Given the description of an element on the screen output the (x, y) to click on. 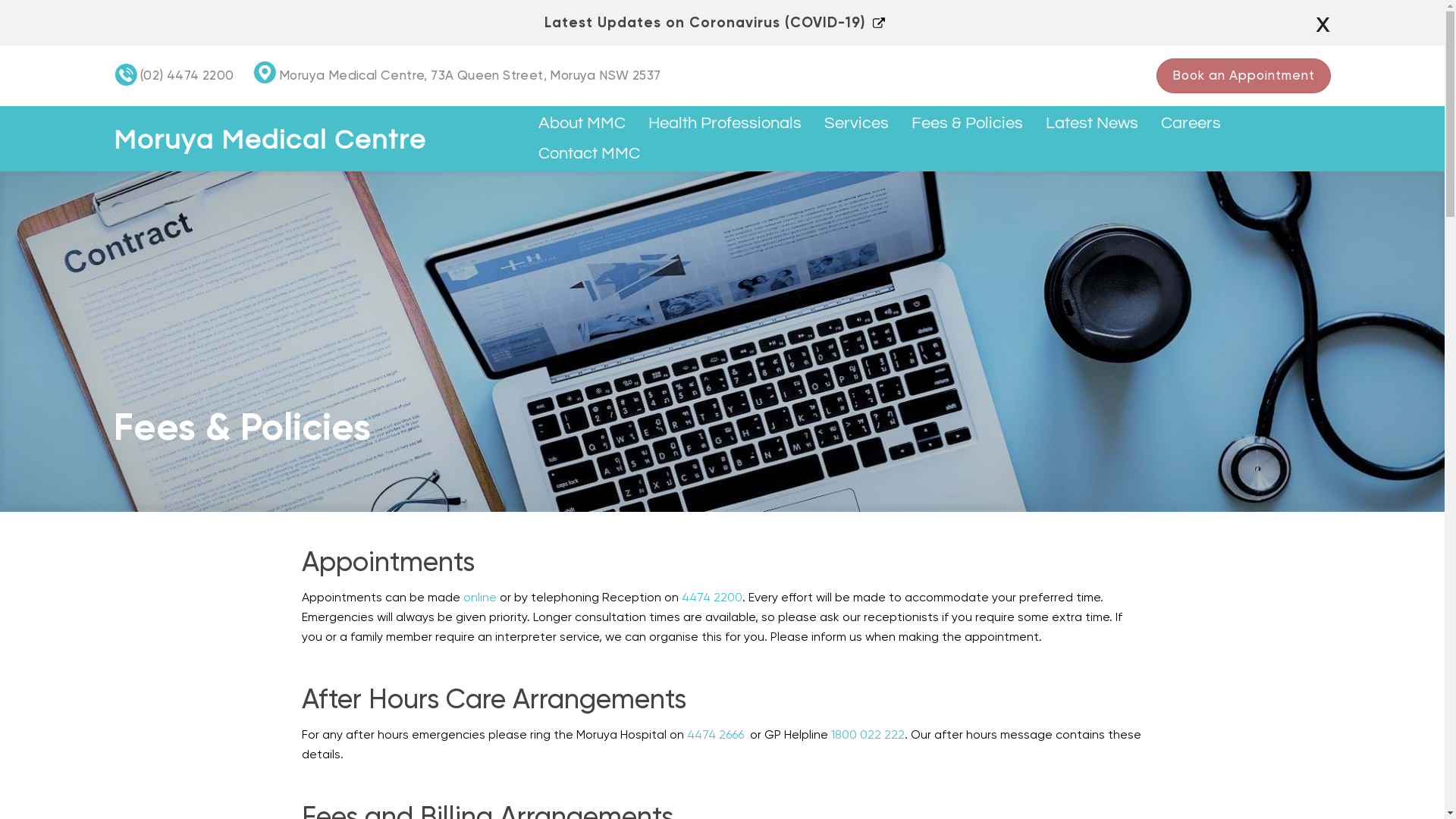
Moruya Medical Centre Element type: text (269, 139)
Careers Element type: text (1190, 123)
Services Element type: text (856, 123)
About MMC Element type: text (582, 123)
Health Professionals Element type: text (724, 123)
4474 2666 Element type: text (715, 734)
Latest Updates on Coronavirus (COVID-19) Element type: text (714, 22)
Fees & Policies Element type: text (967, 123)
Contact MMC Element type: text (589, 153)
(02) 4474 2200 Element type: text (187, 74)
online Element type: text (478, 596)
x Element type: text (1322, 22)
Latest News Element type: text (1091, 123)
 1800 022 222 Element type: text (866, 734)
Book an Appointment Element type: text (1243, 75)
4474 2200 Element type: text (710, 596)
